Given the description of an element on the screen output the (x, y) to click on. 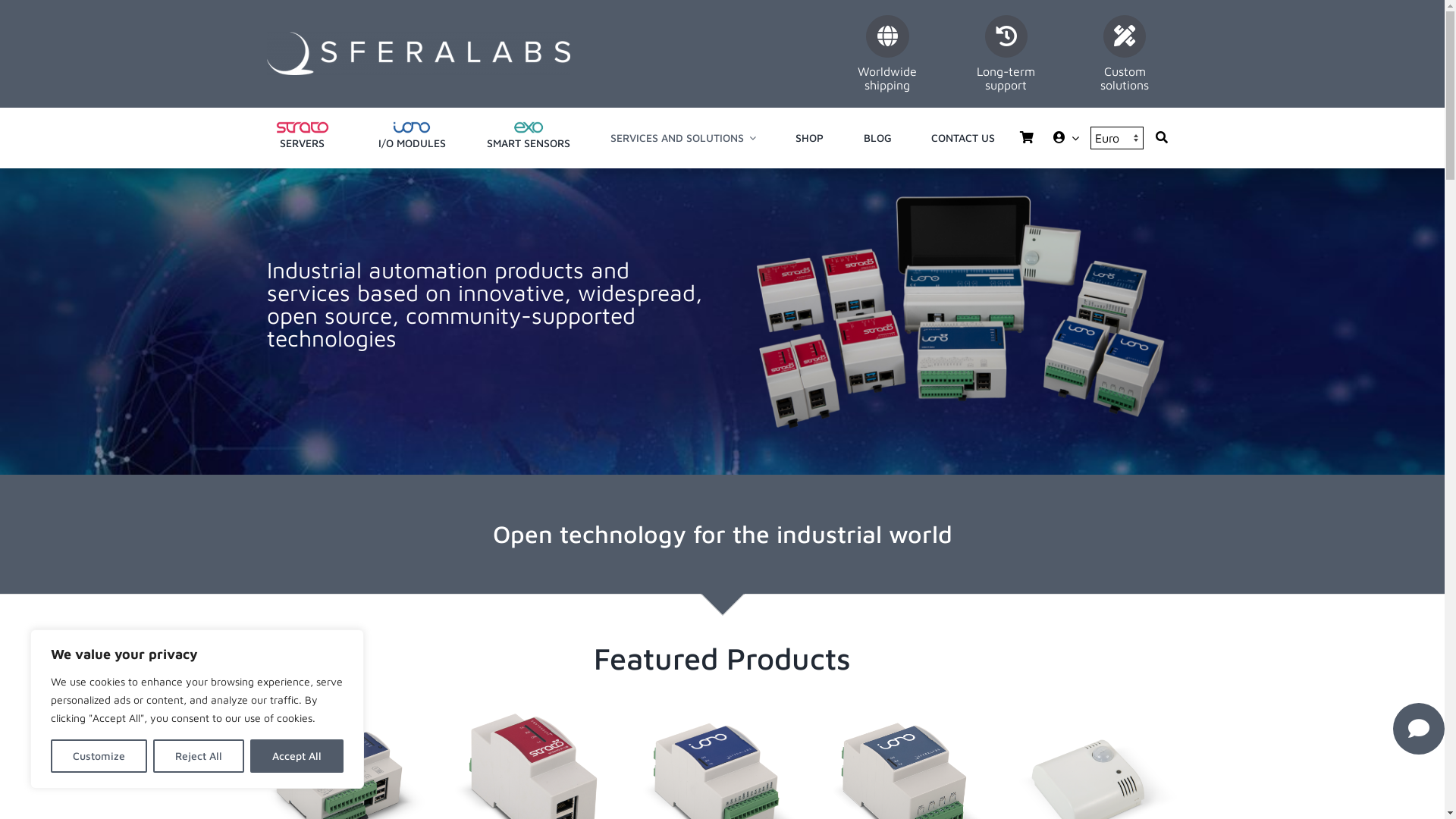
Log In Element type: text (1043, 297)
SERVICES AND SOLUTIONS Element type: text (683, 137)
exo-line Element type: hover (528, 127)
CONTACT US Element type: text (962, 137)
iono-line-logo Element type: hover (411, 127)
Accept All Element type: text (296, 755)
HSYCO_490 Home Final-noBG Element type: hover (958, 313)
strato-line Element type: hover (301, 127)
SHOP Element type: text (809, 137)
Search Element type: hover (1161, 137)
I/O MODULES Element type: text (411, 137)
Reject All Element type: text (198, 755)
SERVERS Element type: text (301, 137)
BLOG Element type: text (877, 137)
SMART SENSORS Element type: text (528, 137)
Customize Element type: text (98, 755)
